Given the description of an element on the screen output the (x, y) to click on. 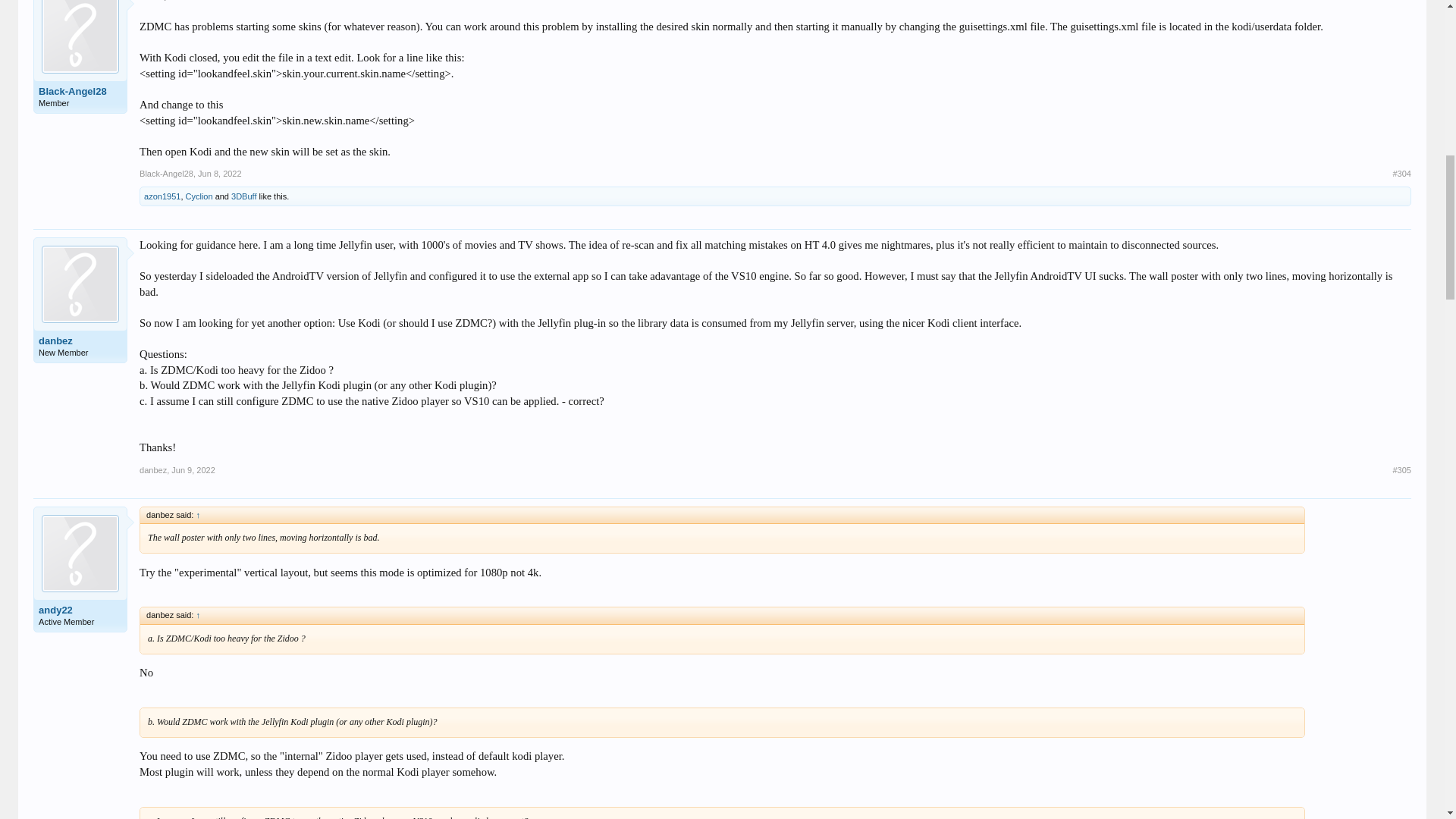
Permalink (219, 173)
Permalink (1400, 173)
Permalink (193, 470)
Permalink (1400, 470)
